Given the description of an element on the screen output the (x, y) to click on. 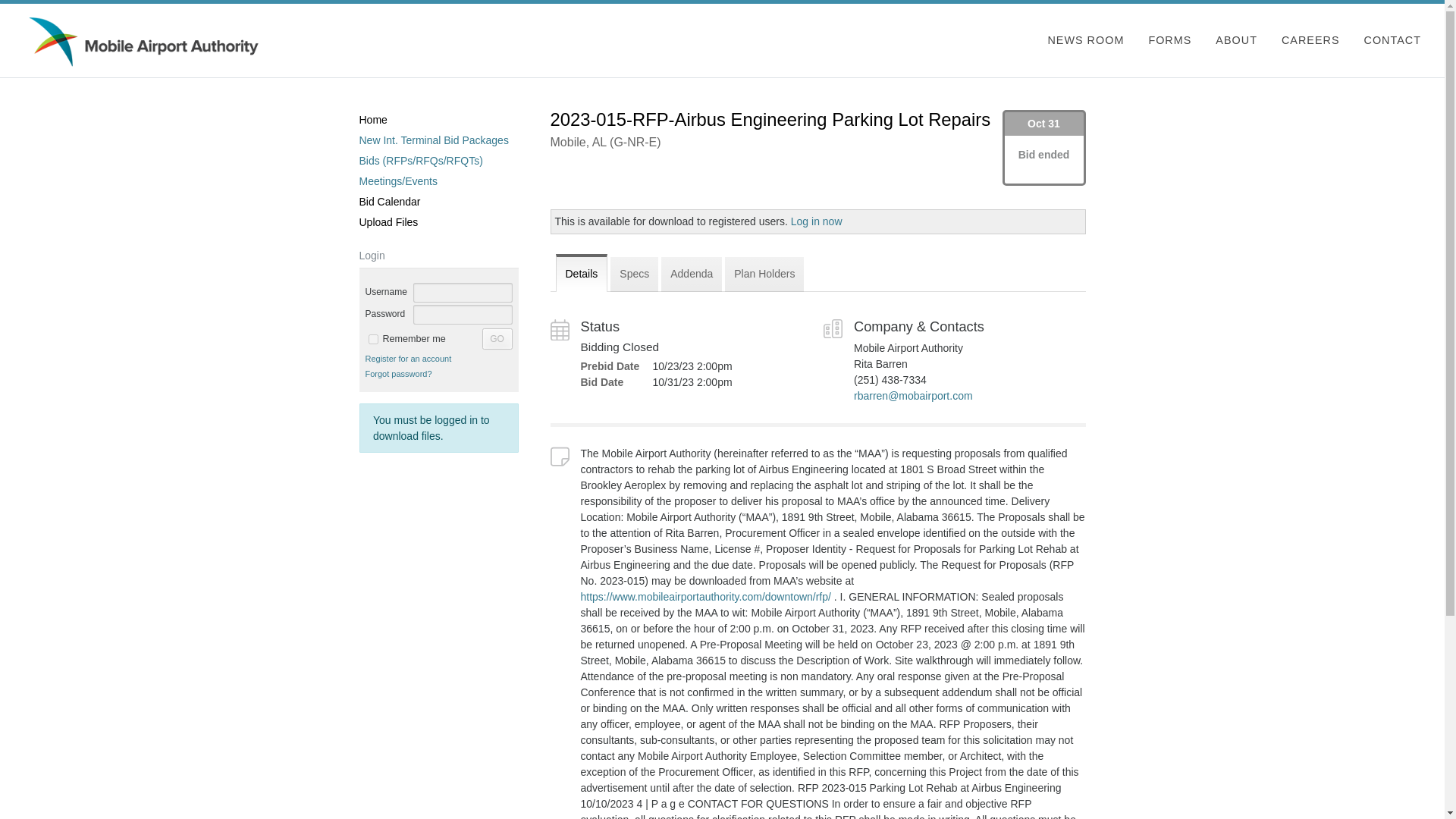
Details (580, 272)
Addenda (691, 272)
CAREERS (1310, 39)
1 (373, 338)
CONTACT (1386, 39)
NEWS ROOM (1085, 39)
GO (496, 338)
GO (496, 338)
Upload Files (438, 222)
Home (438, 119)
